Given the description of an element on the screen output the (x, y) to click on. 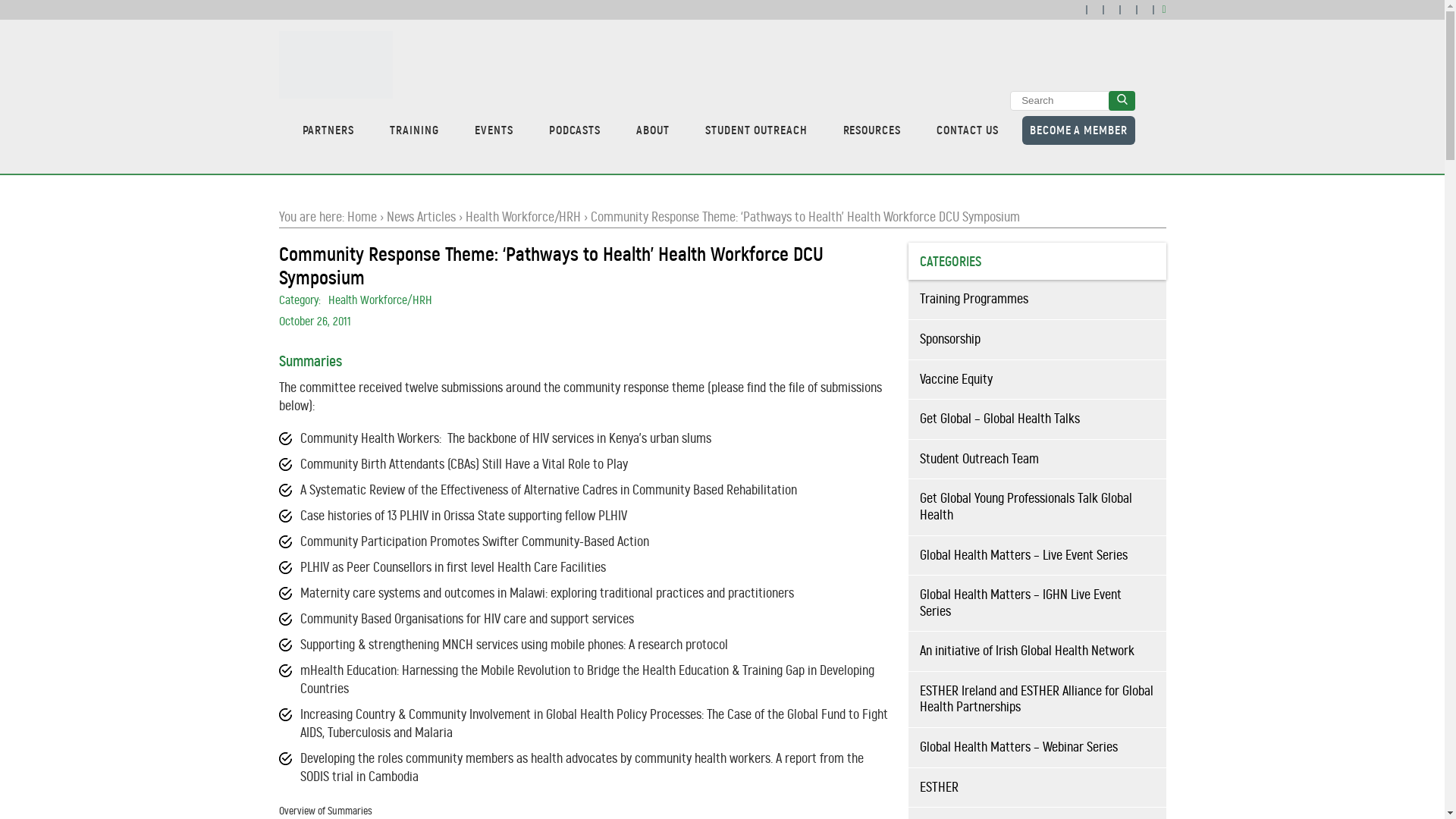
Go to News Articles. (421, 216)
EVENTS (494, 130)
STUDENT OUTREACH (755, 130)
Global Health (336, 64)
TRAINING (414, 130)
ABOUT (652, 130)
Go to Global Health. (362, 216)
PARTNERS (327, 130)
PODCASTS (574, 130)
